Given the description of an element on the screen output the (x, y) to click on. 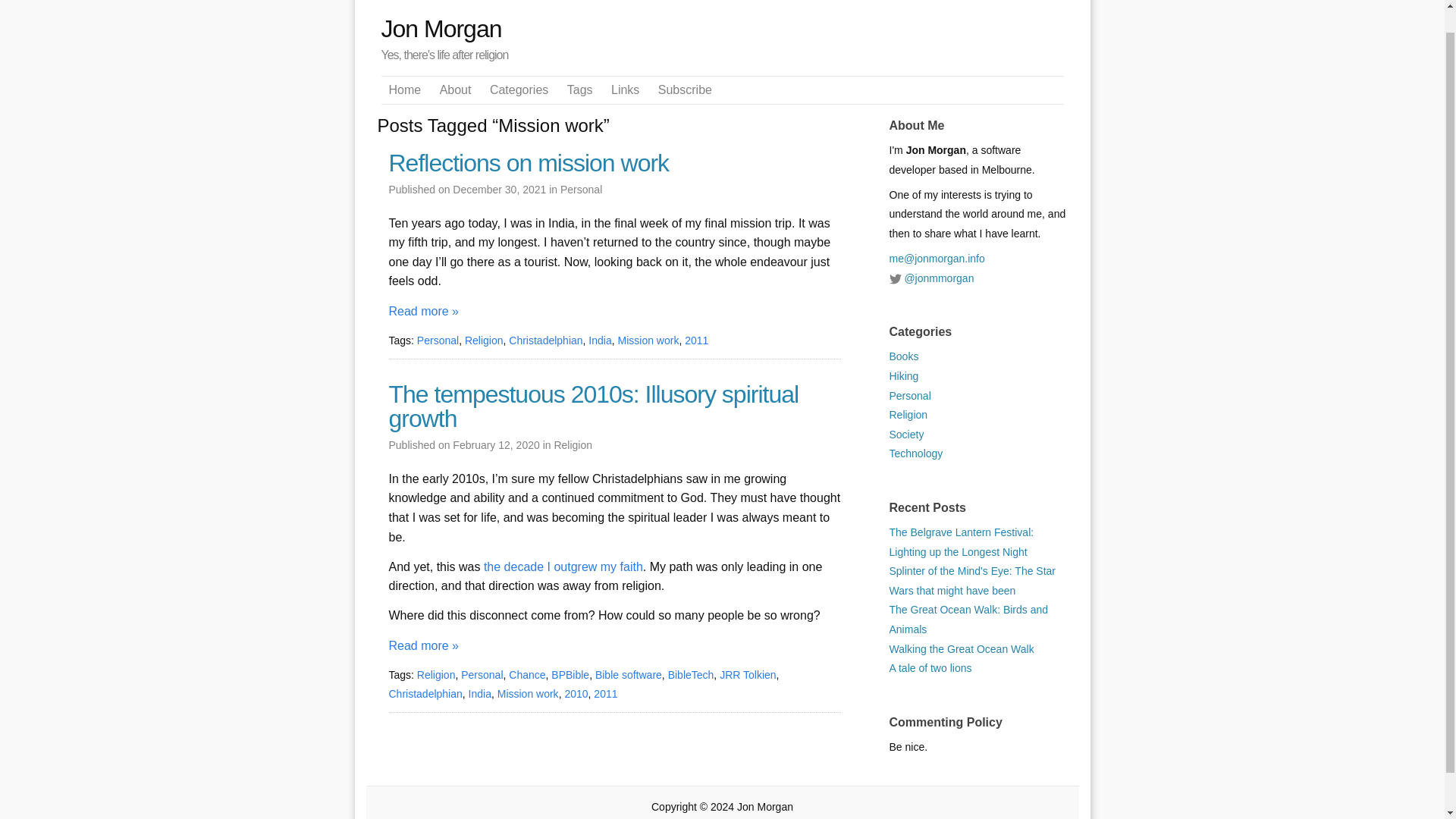
Christadelphian (545, 340)
Christadelphian (424, 693)
Mission work (528, 693)
Christadelphian (545, 340)
Chance (526, 674)
2011 (695, 340)
Personal (909, 395)
JRR Tolkien (747, 674)
About (455, 89)
Reflections on mission work (614, 162)
Links (625, 89)
India (480, 693)
BibleTech (691, 674)
Personal (437, 340)
Religion (435, 674)
